Given the description of an element on the screen output the (x, y) to click on. 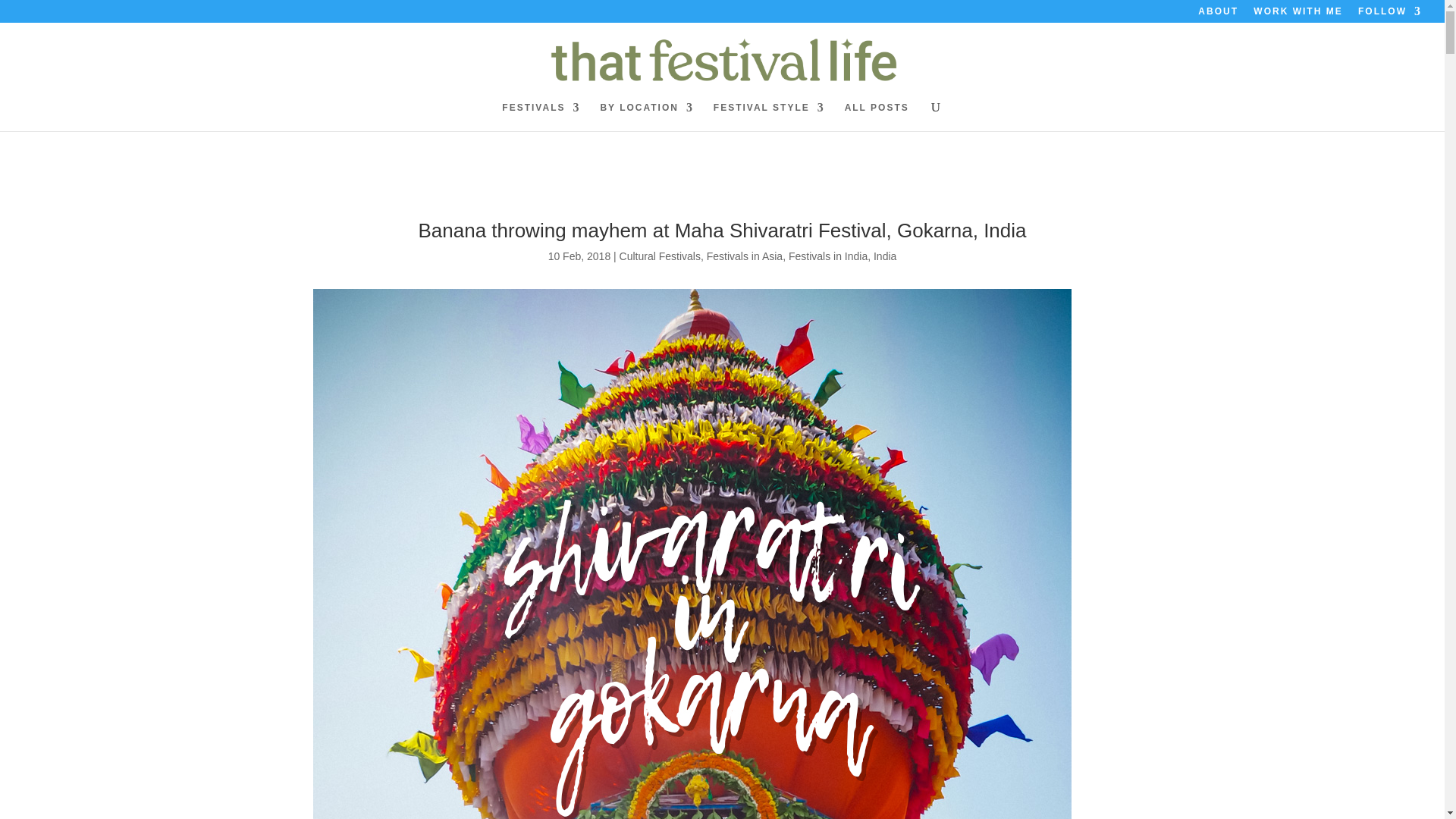
BY LOCATION (646, 116)
FOLLOW (1390, 14)
India (884, 256)
WORK WITH ME (1297, 14)
Festivals in Asia (744, 256)
ALL POSTS (876, 116)
Cultural Festivals (660, 256)
FESTIVAL STYLE (769, 116)
ABOUT (1218, 14)
FESTIVALS (540, 116)
Festivals in India (828, 256)
